Given the description of an element on the screen output the (x, y) to click on. 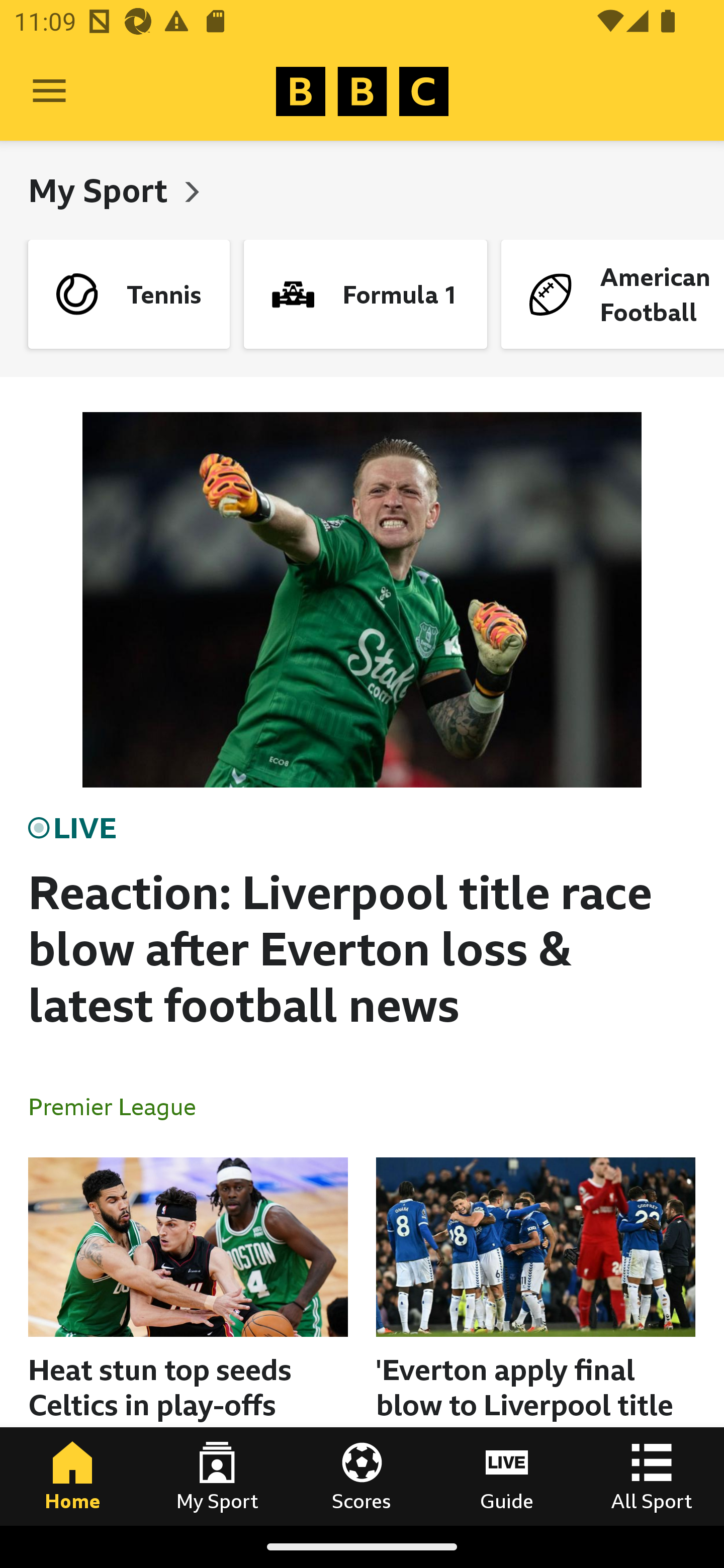
Open Menu (49, 91)
My Sport (101, 190)
Premier League In the section Premier League (119, 1106)
My Sport (216, 1475)
Scores (361, 1475)
Guide (506, 1475)
All Sport (651, 1475)
